Given the description of an element on the screen output the (x, y) to click on. 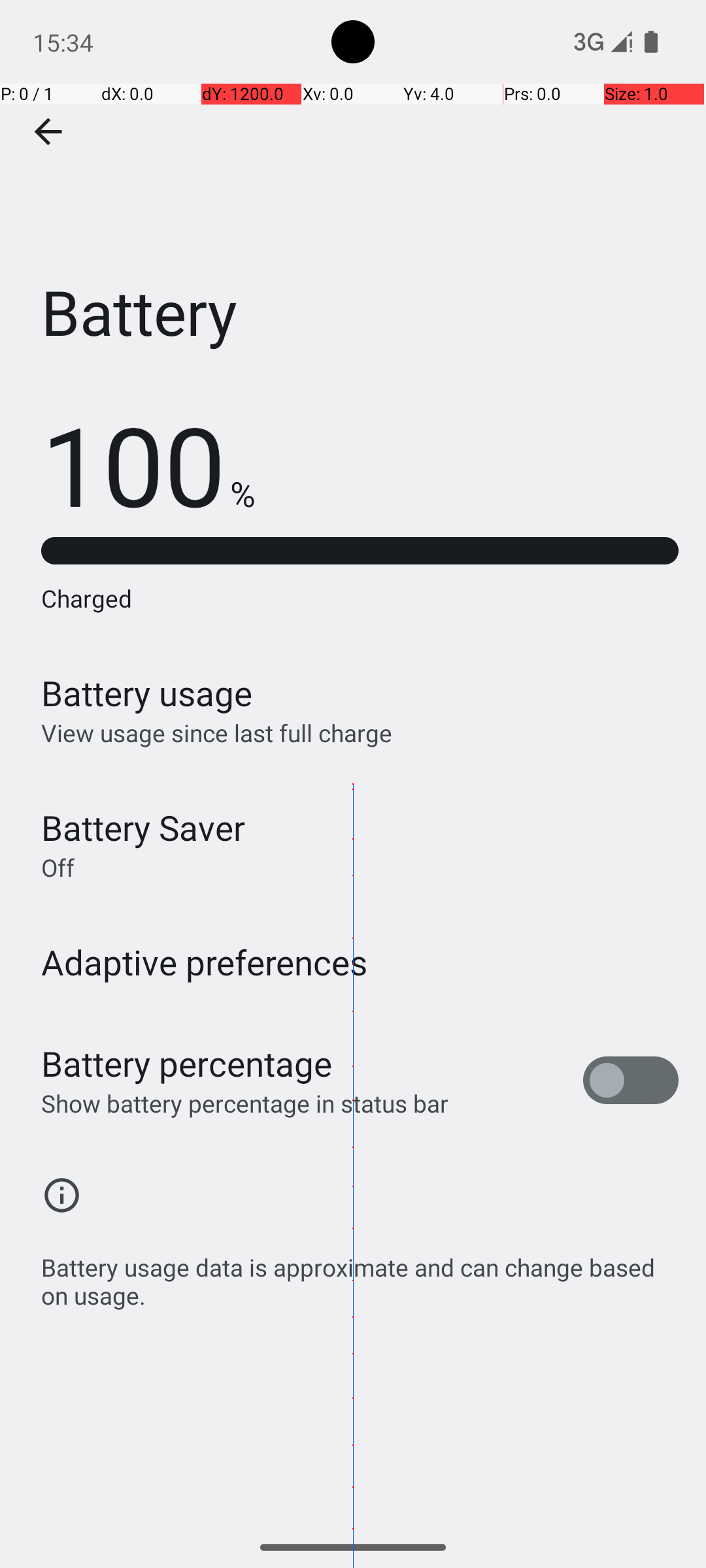
100 % Element type: android.widget.TextView (147, 463)
Charged Element type: android.widget.TextView (359, 597)
Battery usage Element type: android.widget.TextView (146, 692)
View usage since last full charge Element type: android.widget.TextView (216, 732)
Battery Saver Element type: android.widget.TextView (143, 827)
Adaptive preferences Element type: android.widget.TextView (204, 961)
Battery percentage Element type: android.widget.TextView (186, 1063)
Show battery percentage in status bar Element type: android.widget.TextView (244, 1102)
Battery usage data is approximate and can change based on usage. Element type: android.widget.TextView (359, 1274)
